Given the description of an element on the screen output the (x, y) to click on. 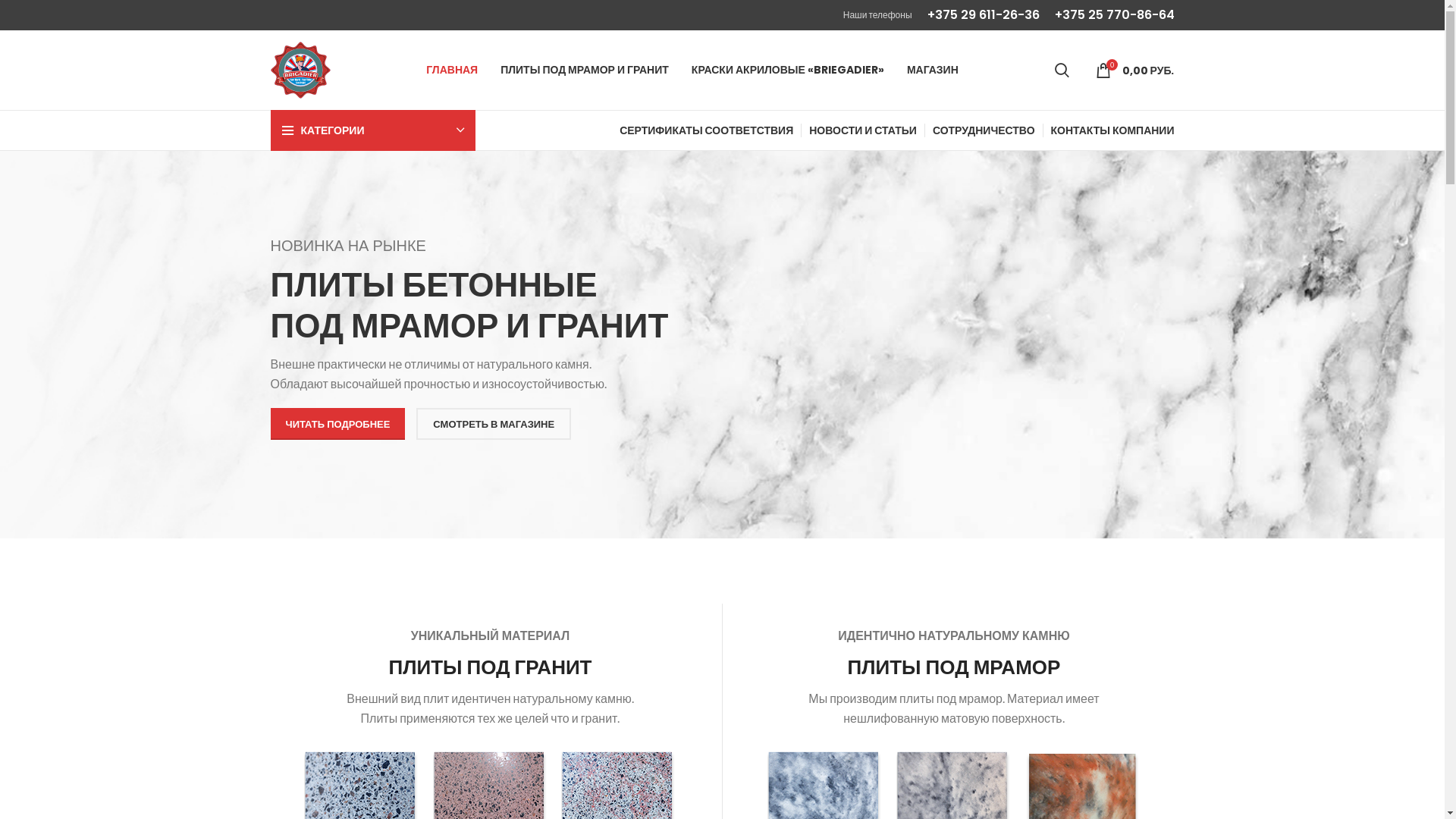
Search Element type: hover (1061, 69)
